Given the description of an element on the screen output the (x, y) to click on. 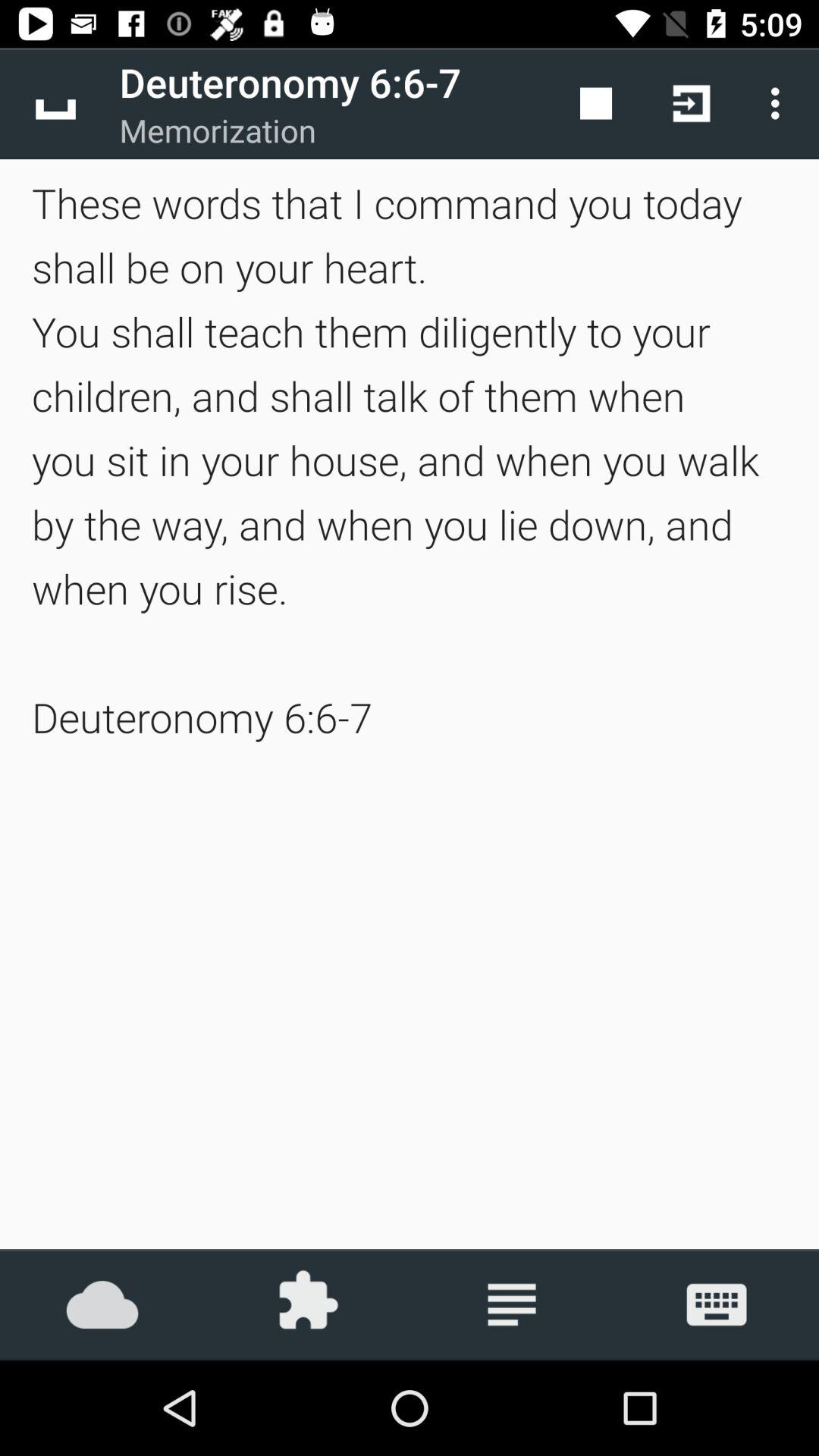
click icon below the these words that item (306, 1304)
